Given the description of an element on the screen output the (x, y) to click on. 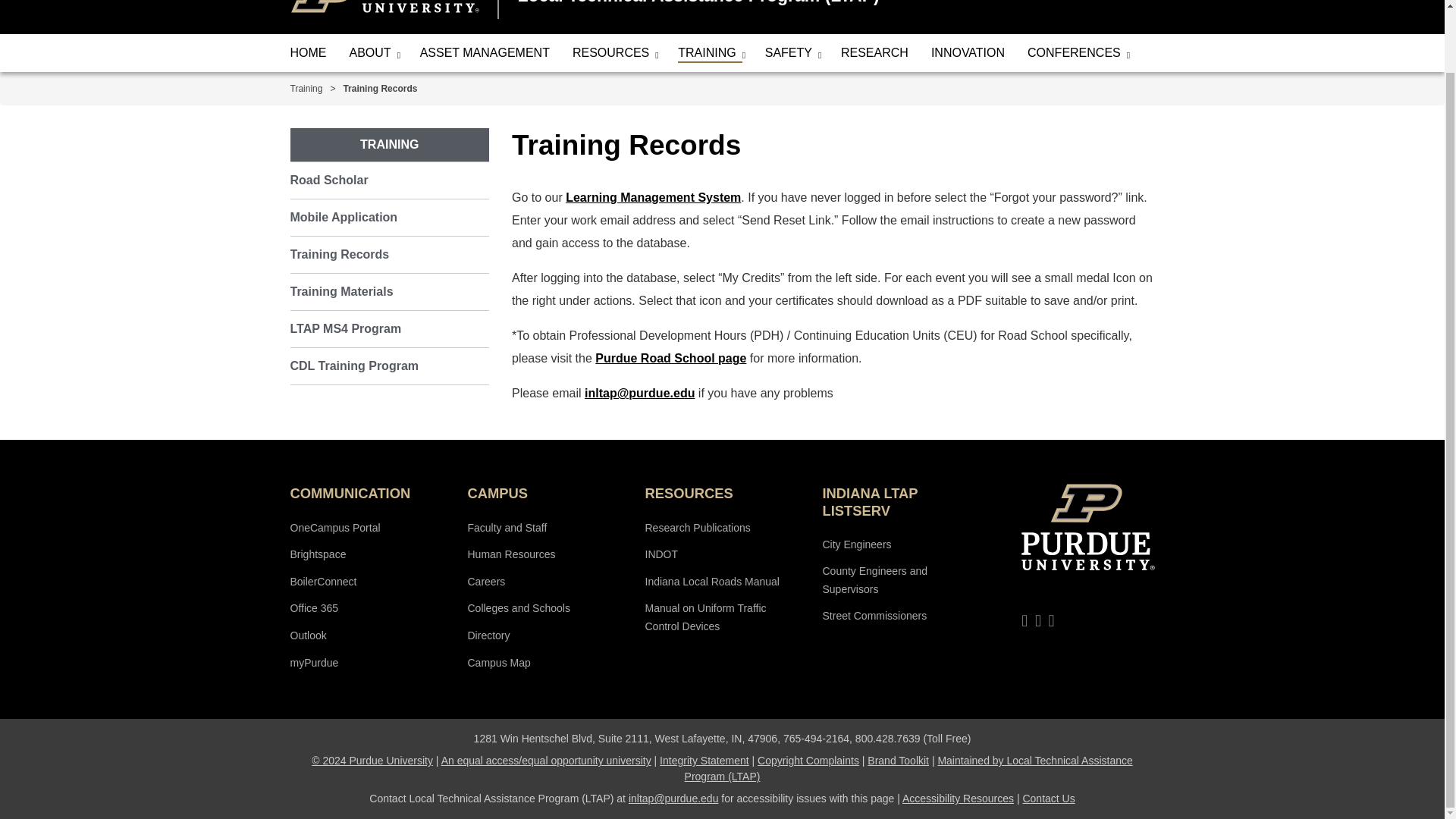
ABOUT (373, 53)
HOME (308, 53)
RESOURCES (613, 53)
ASSET MANAGEMENT (484, 53)
Purdue logo (384, 6)
TRAINING (709, 53)
